Given the description of an element on the screen output the (x, y) to click on. 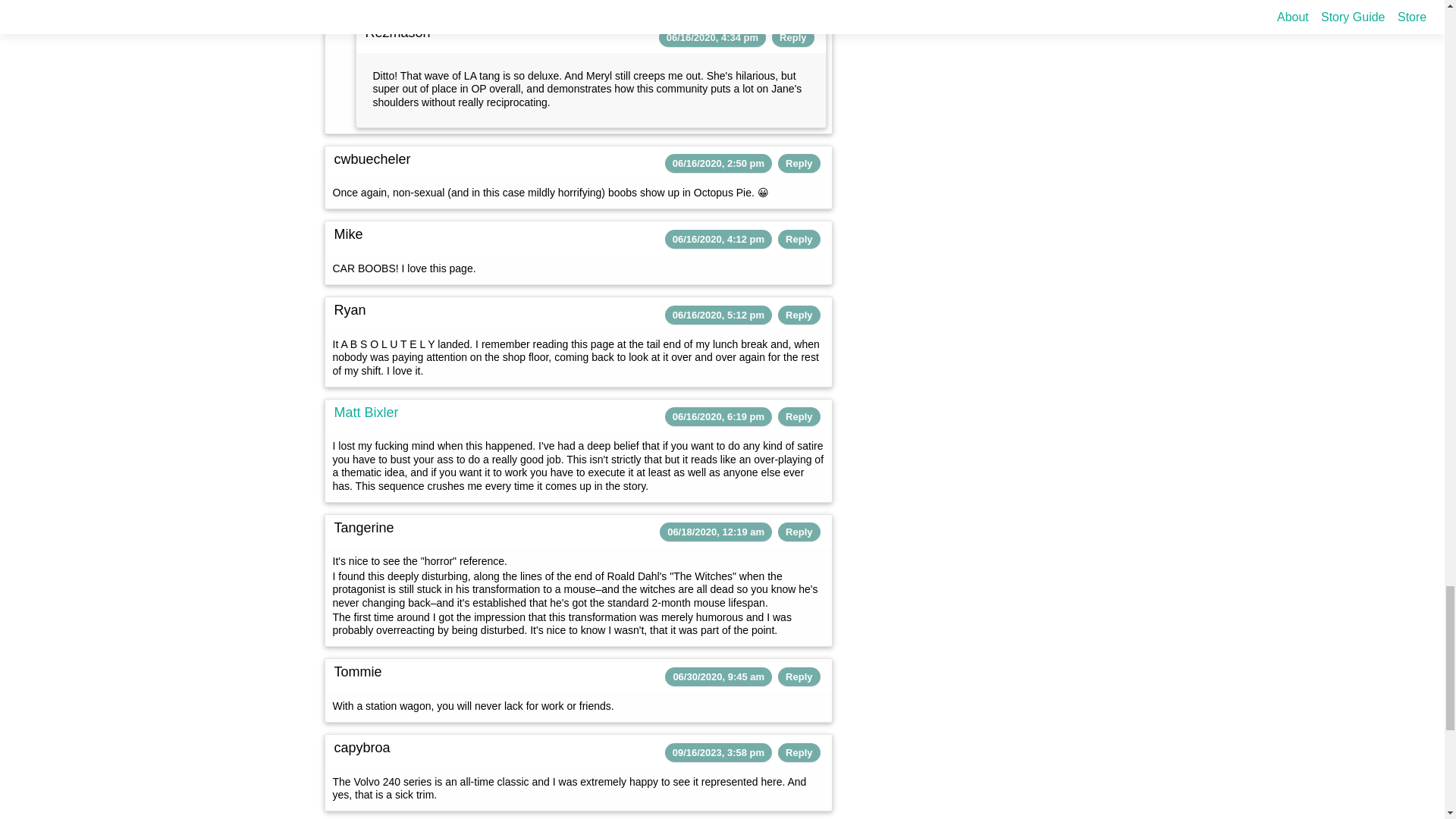
Reply (799, 163)
Reply (799, 315)
Reply (799, 531)
Reply (792, 37)
Reply (799, 238)
Matt Bixler (365, 412)
Reply (799, 416)
